Given the description of an element on the screen output the (x, y) to click on. 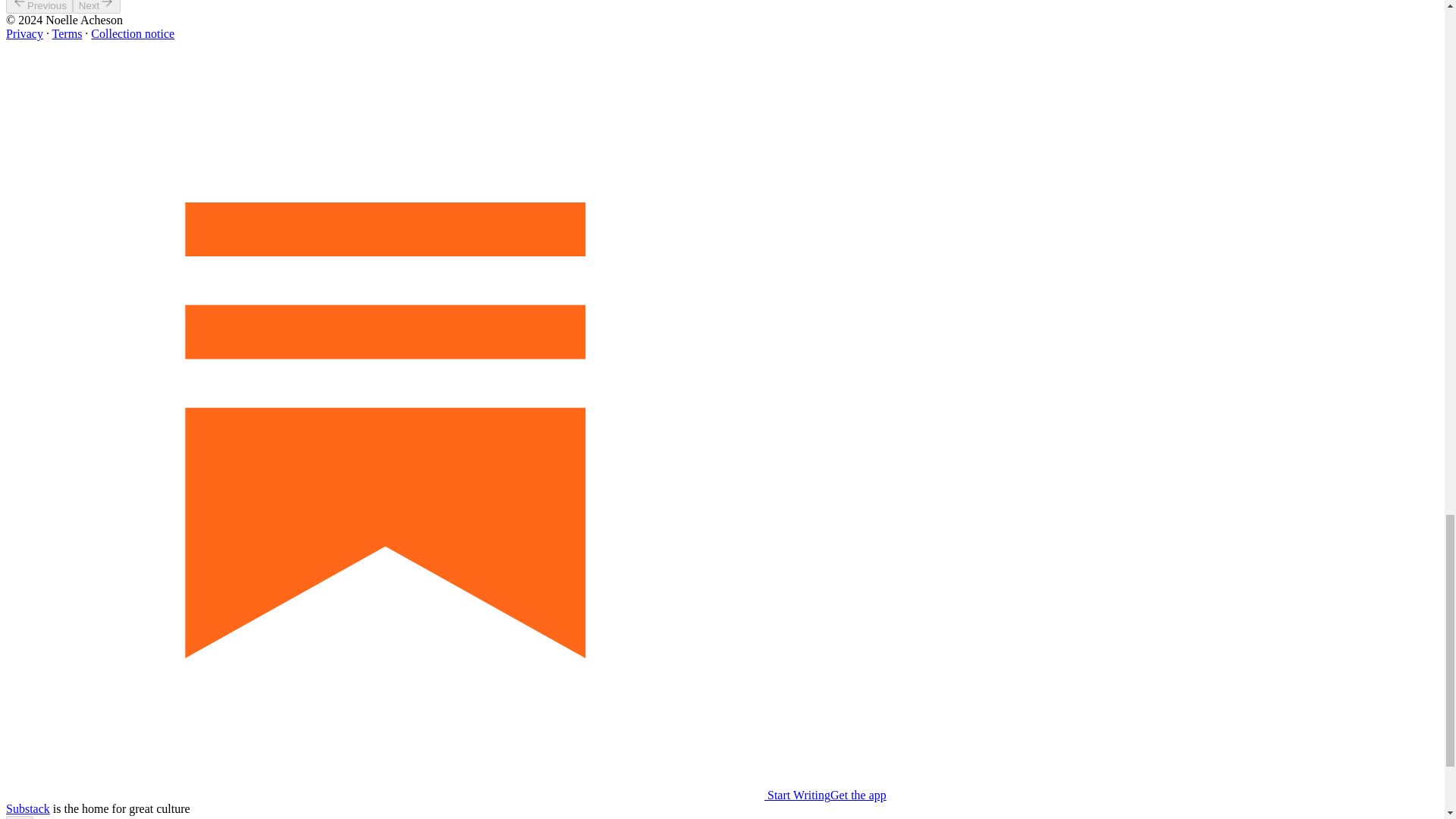
Next (96, 6)
Terms (67, 33)
Collection notice (132, 33)
Privacy (24, 33)
Previous (38, 6)
